Given the description of an element on the screen output the (x, y) to click on. 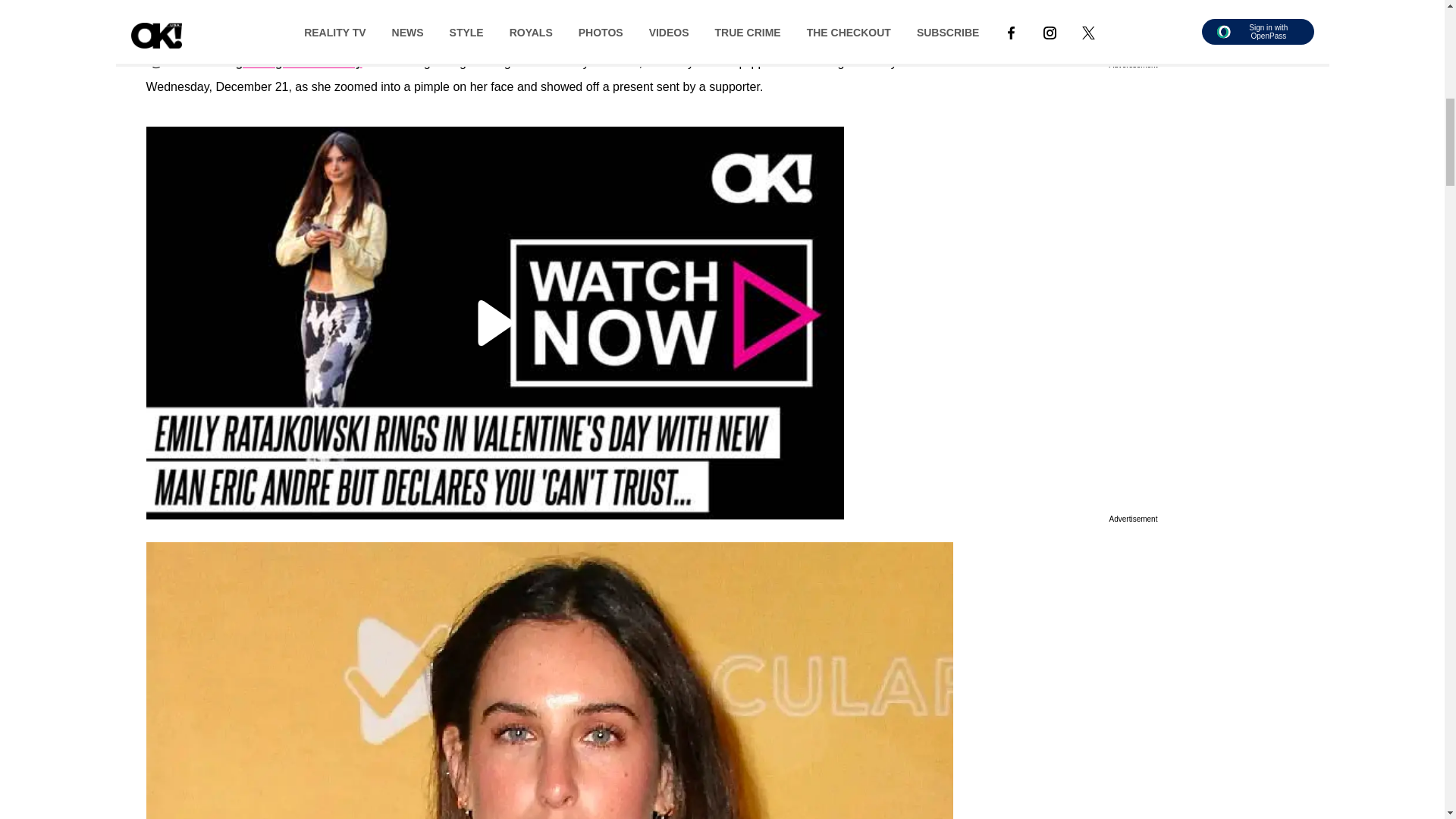
Scout (492, 25)
Rumer Willis (182, 25)
